Given the description of an element on the screen output the (x, y) to click on. 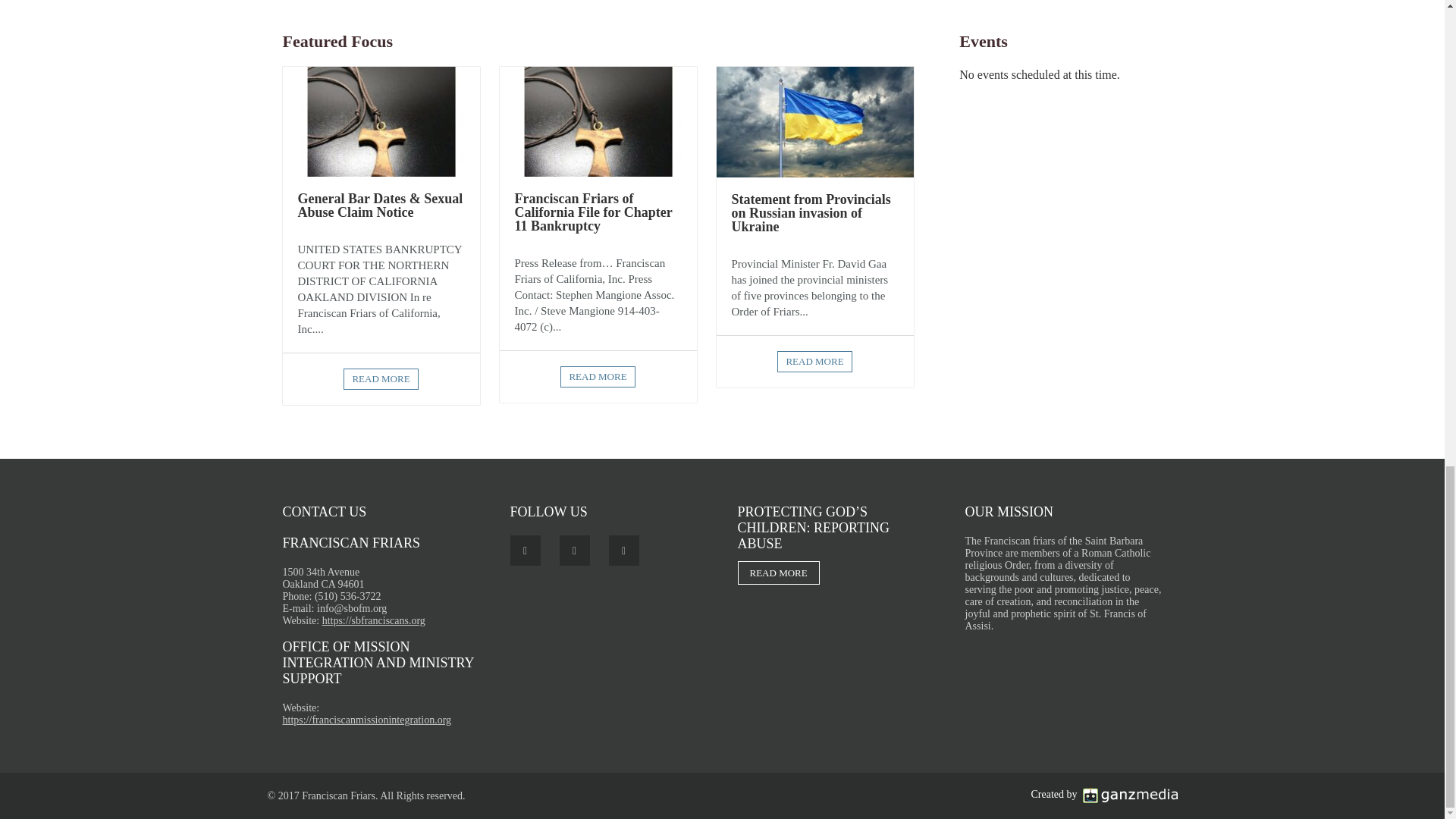
Statement from Provincials on Russian invasion of Ukraine (809, 212)
Read more (814, 361)
Statement from Provincials on Russian invasion of Ukraine (814, 121)
Read more (597, 376)
Read more (380, 378)
